Given the description of an element on the screen output the (x, y) to click on. 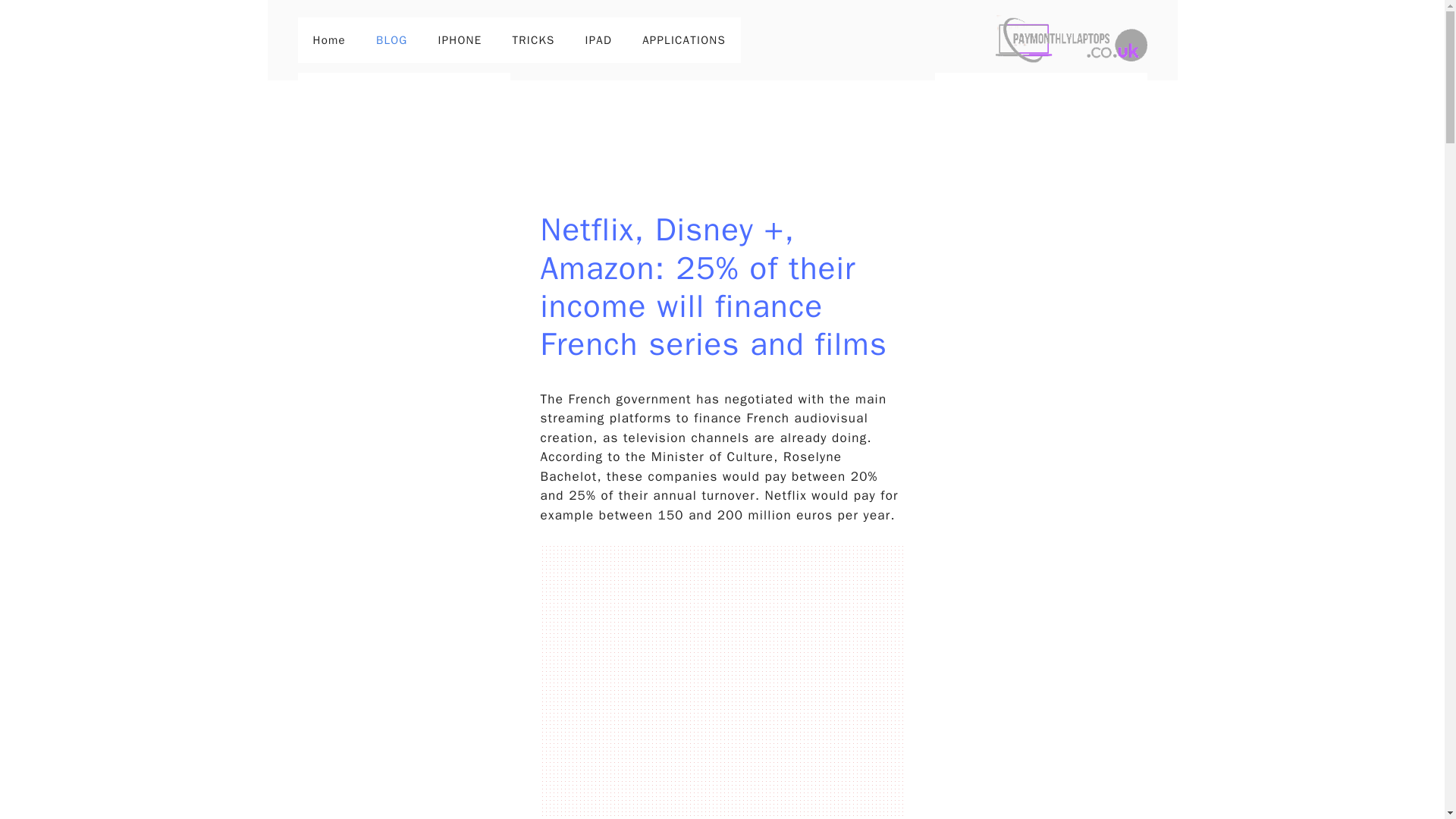
IPHONE (460, 40)
IPAD (598, 40)
BLOG (392, 40)
TRICKS (532, 40)
APPLICATIONS (684, 40)
Home (328, 40)
